Given the description of an element on the screen output the (x, y) to click on. 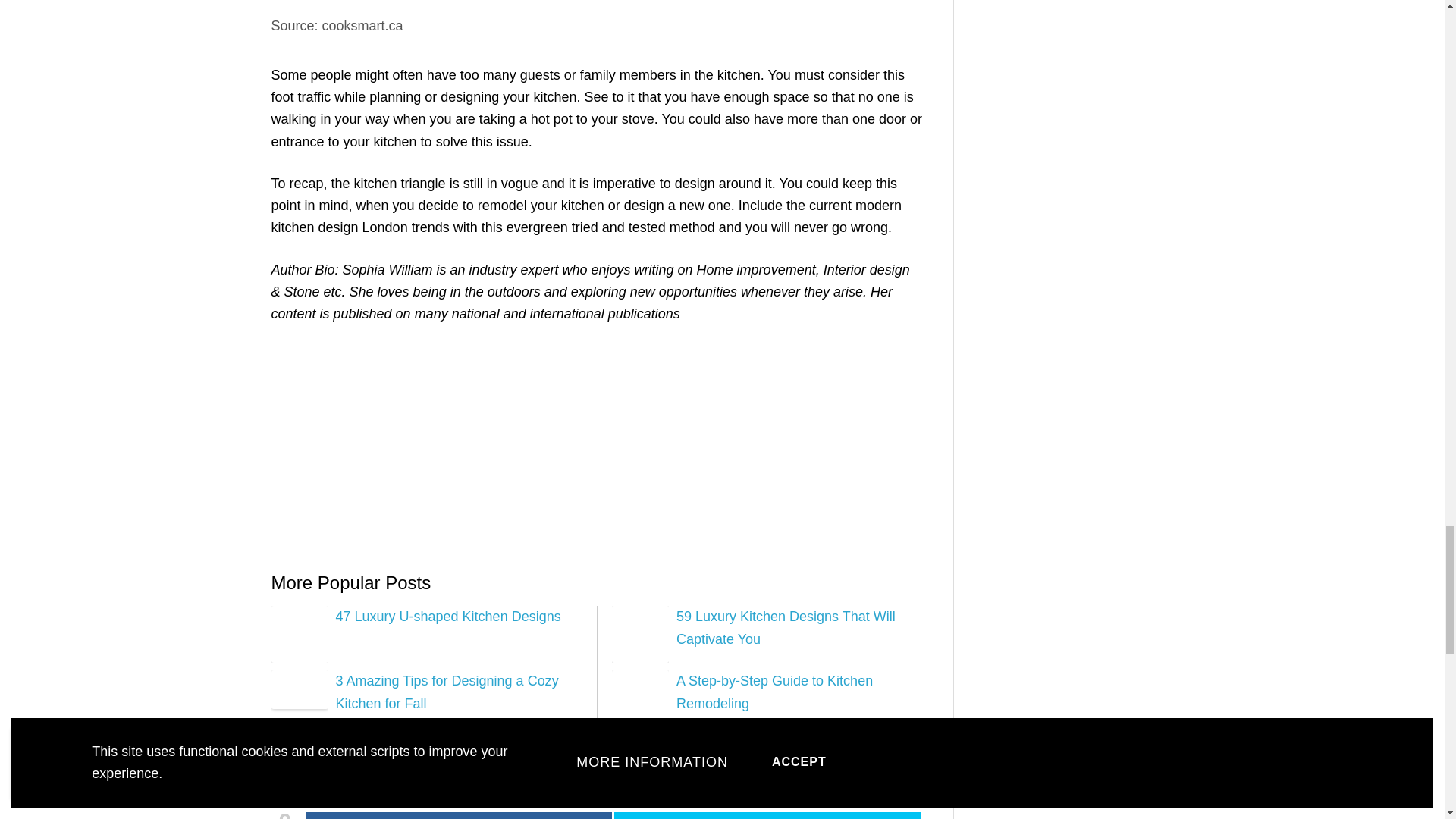
3 Amazing Tips for Designing a Cozy Kitchen for Fall (445, 691)
A Concise Guide to Find the Right Kitchen Designer (821, 768)
12 Inexpensive Kitchen Remodeling Ideas (368, 761)
Tweet (767, 815)
47 Luxury U-shaped Kitchen Designs (447, 616)
Share (458, 815)
A Step-by-Step Guide to Kitchen Remodeling (774, 691)
59 Luxury Kitchen Designs That Will Captivate You (786, 627)
